Given the description of an element on the screen output the (x, y) to click on. 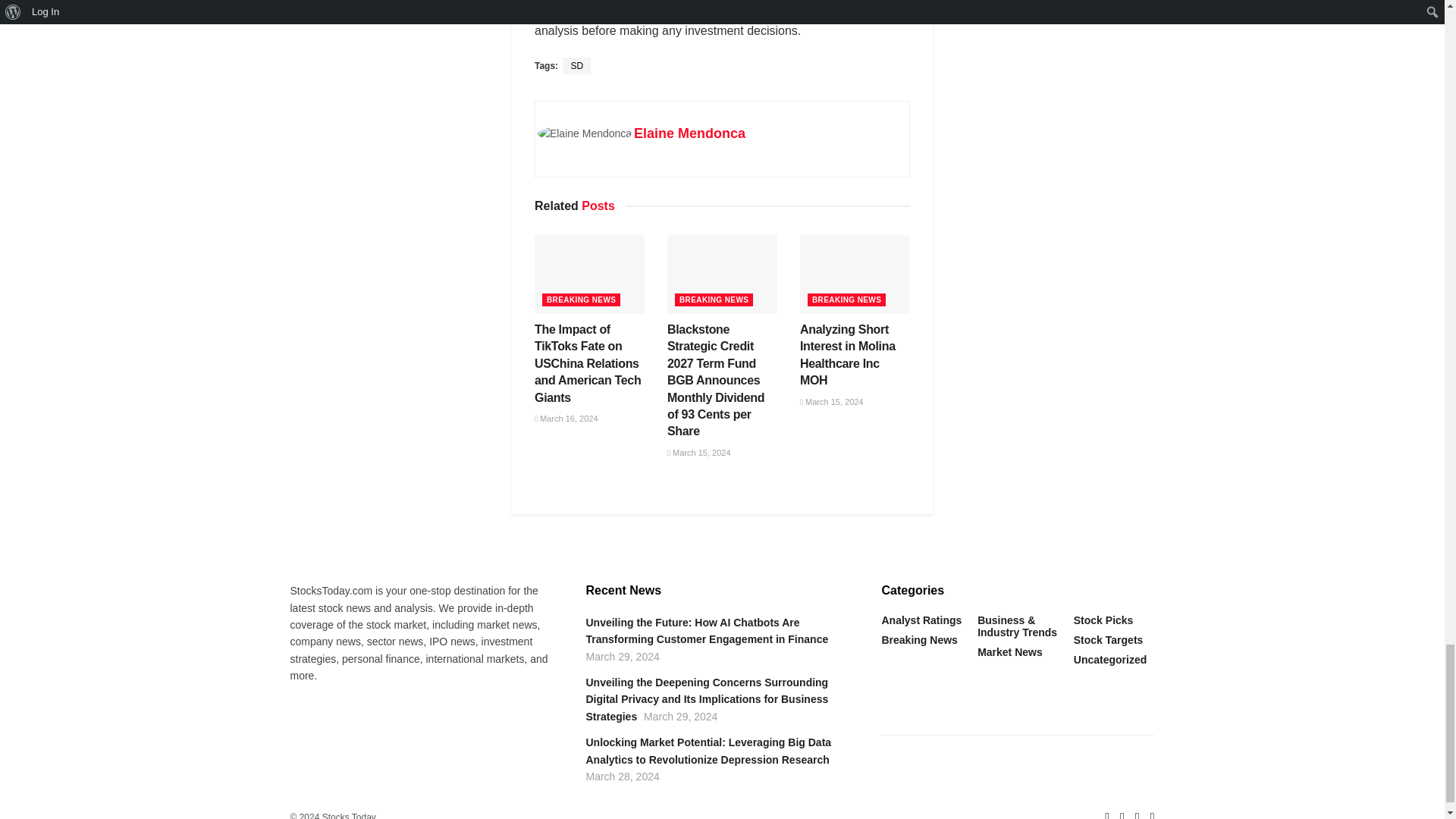
BREAKING NEWS (580, 299)
Elaine Mendonca (689, 133)
SD (576, 65)
